Given the description of an element on the screen output the (x, y) to click on. 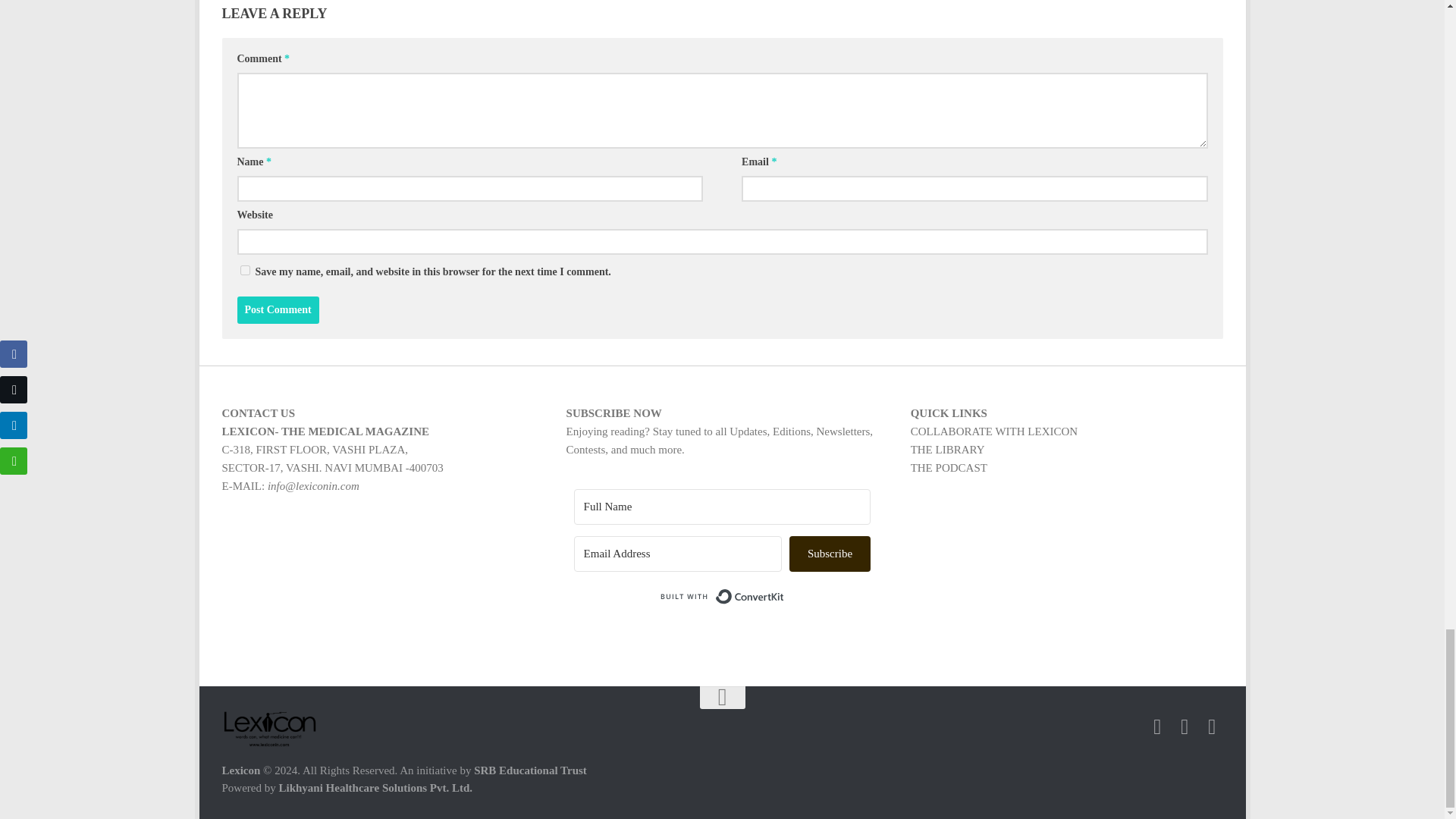
Post Comment (276, 309)
Follow us on Instagram (1157, 726)
Follow us on Facebook (1184, 726)
yes (244, 270)
Follow us on Spotify (1212, 726)
